Given the description of an element on the screen output the (x, y) to click on. 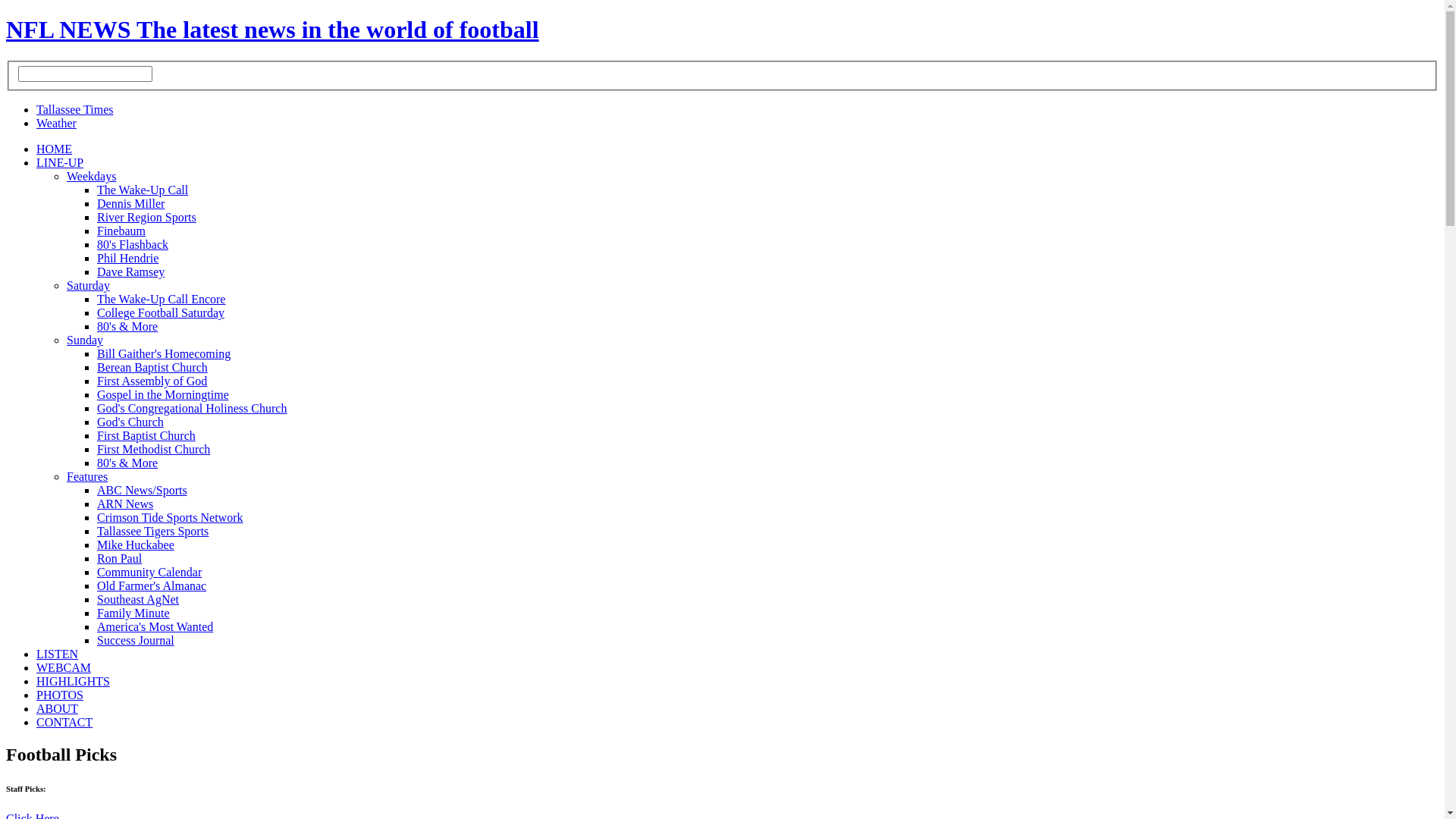
River Region Sports Element type: text (146, 216)
America's Most Wanted Element type: text (155, 626)
Sunday Element type: text (84, 339)
Success Journal Element type: text (135, 639)
Gospel in the Morningtime Element type: text (163, 394)
Tallassee Times Element type: text (74, 109)
Weekdays Element type: text (91, 175)
LINE-UP Element type: text (59, 162)
First Methodist Church Element type: text (153, 448)
Saturday Element type: text (87, 285)
NFL NEWS The latest news in the world of football Element type: text (272, 29)
Finebaum Element type: text (121, 230)
80's & More Element type: text (127, 462)
Berean Baptist Church Element type: text (152, 366)
HOME Element type: text (54, 148)
Ron Paul Element type: text (119, 558)
Weather Element type: text (56, 122)
College Football Saturday Element type: text (160, 312)
PHOTOS Element type: text (59, 694)
The Wake-Up Call Encore Element type: text (161, 298)
ABOUT Element type: text (57, 708)
God's Congregational Holiness Church Element type: text (191, 407)
Mike Huckabee Element type: text (135, 544)
Dennis Miller Element type: text (130, 203)
ABC News/Sports Element type: text (142, 489)
80's & More Element type: text (127, 326)
The Wake-Up Call Element type: text (142, 189)
God's Church Element type: text (130, 421)
Bill Gaither's Homecoming Element type: text (163, 353)
Tallassee Tigers Sports Element type: text (152, 530)
CONTACT Element type: text (64, 721)
80's Flashback Element type: text (132, 244)
Dave Ramsey Element type: text (130, 271)
ARN News Element type: text (125, 503)
LISTEN Element type: text (57, 653)
Southeast AgNet Element type: text (137, 599)
HIGHLIGHTS Element type: text (72, 680)
Crimson Tide Sports Network Element type: text (169, 517)
Family Minute Element type: text (133, 612)
Community Calendar Element type: text (149, 571)
Old Farmer's Almanac Element type: text (151, 585)
Features Element type: text (86, 476)
Phil Hendrie Element type: text (127, 257)
First Assembly of God Element type: text (152, 380)
First Baptist Church Element type: text (146, 435)
WEBCAM Element type: text (63, 667)
